Given the description of an element on the screen output the (x, y) to click on. 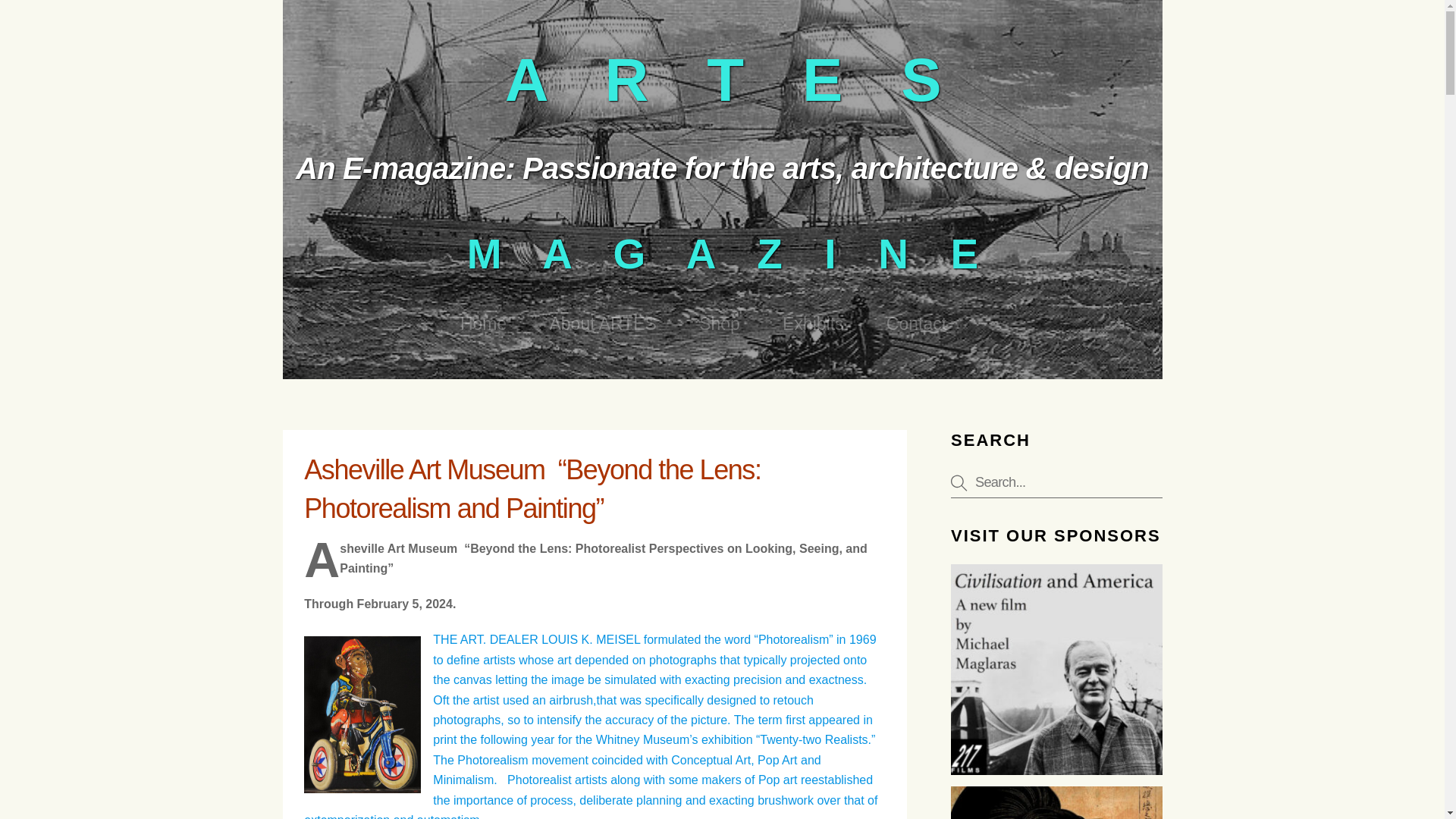
Exhibits (812, 324)
Contact (916, 324)
Search (1055, 481)
Home (483, 324)
About ARTES (602, 324)
Shop (719, 324)
Home (1055, 802)
Home About ARTES Shop Exhibits Contact (703, 324)
Home (1055, 669)
